Given the description of an element on the screen output the (x, y) to click on. 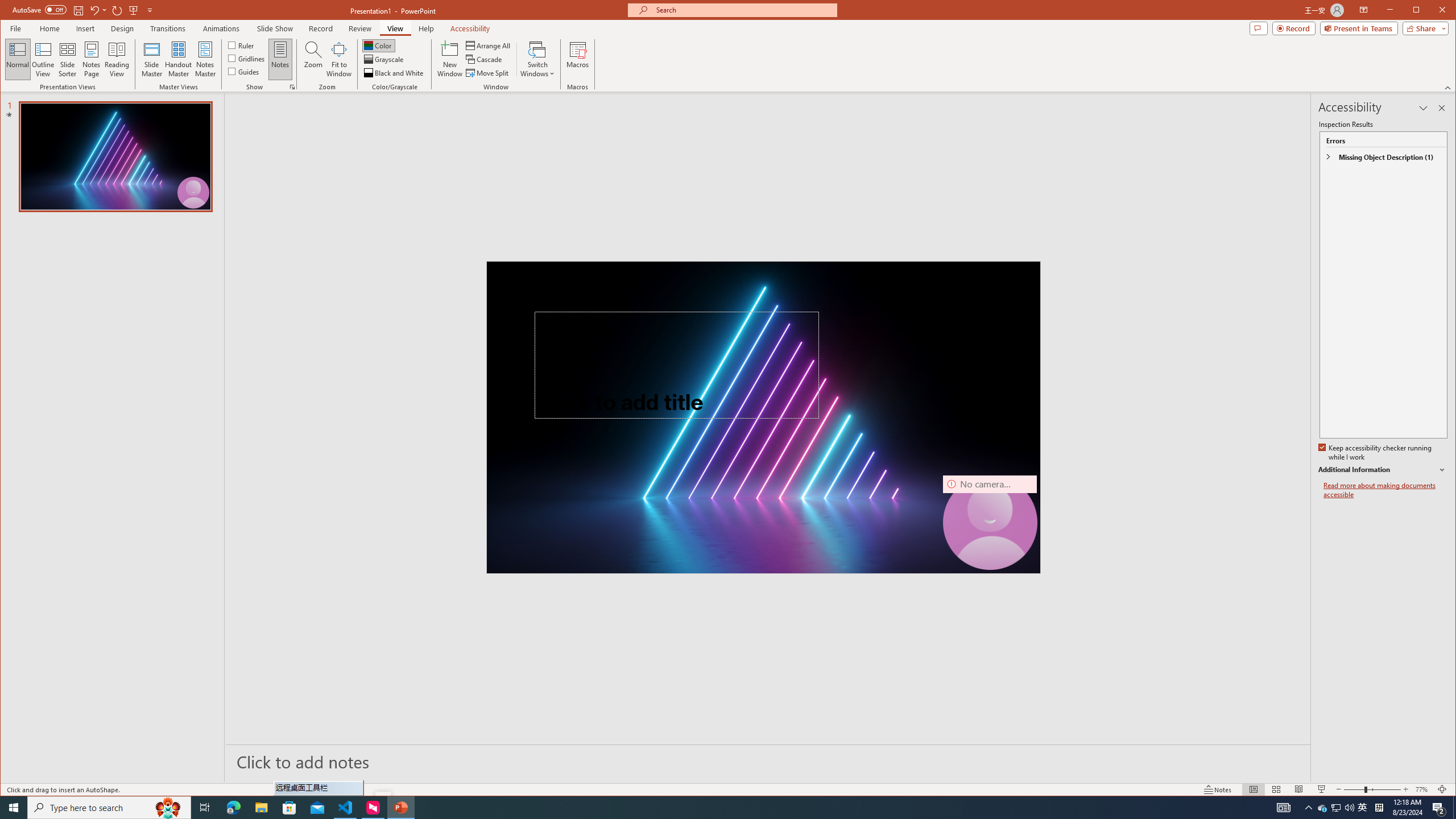
Guides (243, 70)
Outline View (42, 59)
Neon laser lights aligned to form a triangle (762, 417)
Grid Settings... (292, 86)
